Given the description of an element on the screen output the (x, y) to click on. 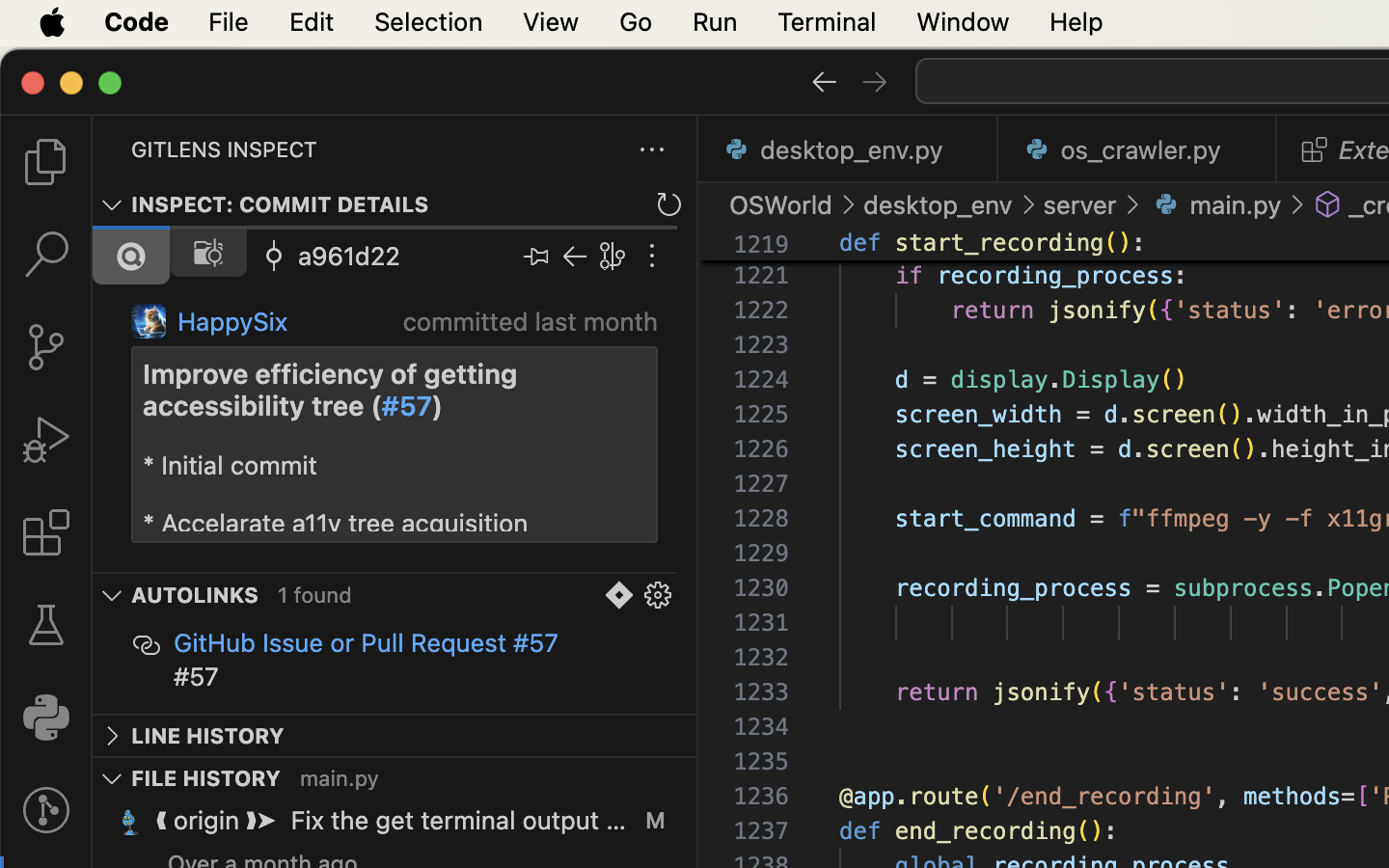
main.py  Element type: AXGroup (1214, 204)
committed Element type: AXStaticText (465, 321)
GITLENS INSPECT Element type: AXStaticText (224, 149)
 Element type: AXGroup (618, 595)
OSWorld Element type: AXGroup (781, 204)
